Given the description of an element on the screen output the (x, y) to click on. 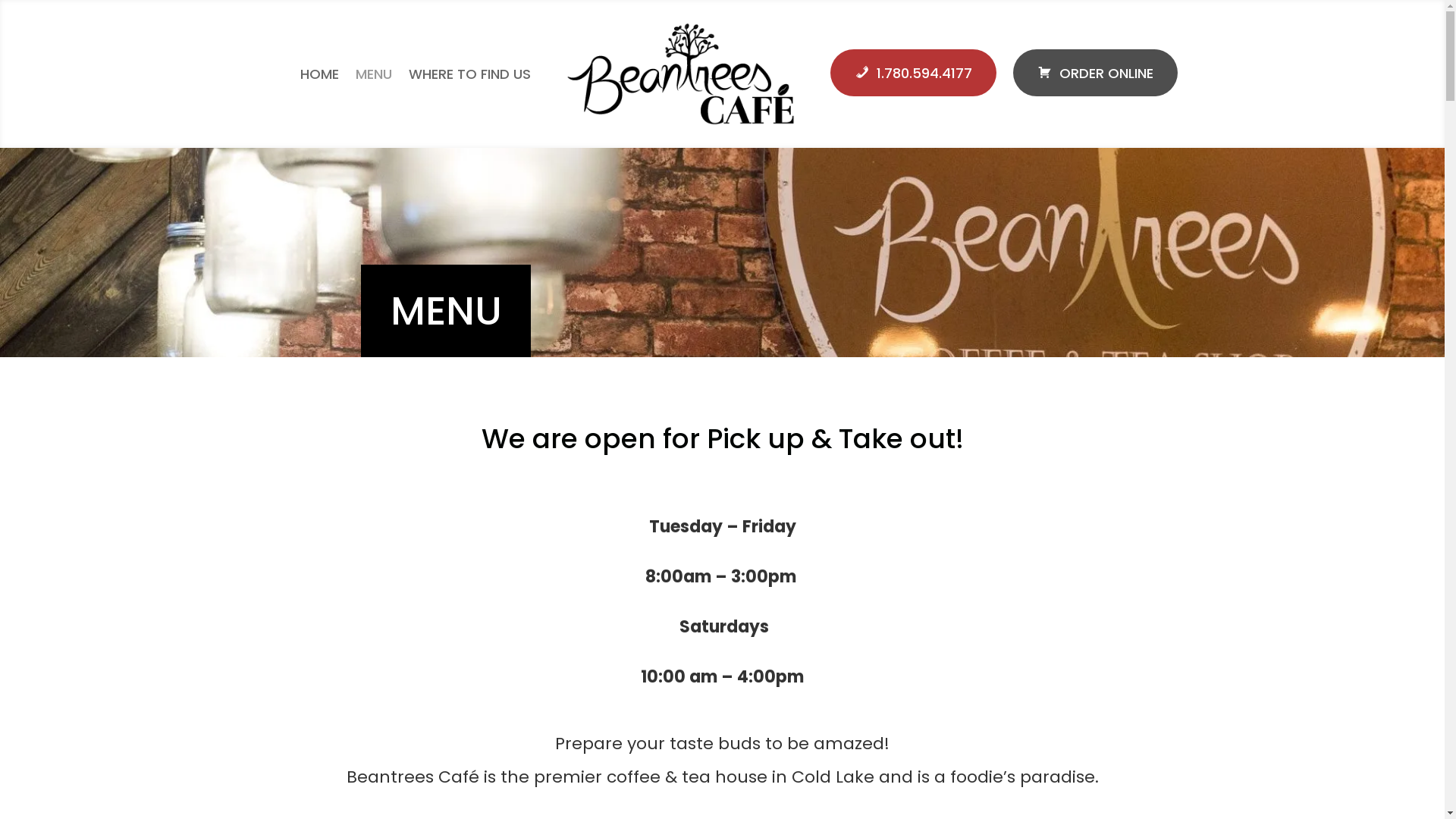
WHERE TO FIND US Element type: text (469, 73)
ORDER ONLINE Element type: text (1095, 72)
1.780.594.4177 Element type: text (912, 72)
MENU Element type: text (373, 73)
HOME Element type: text (319, 73)
